Given the description of an element on the screen output the (x, y) to click on. 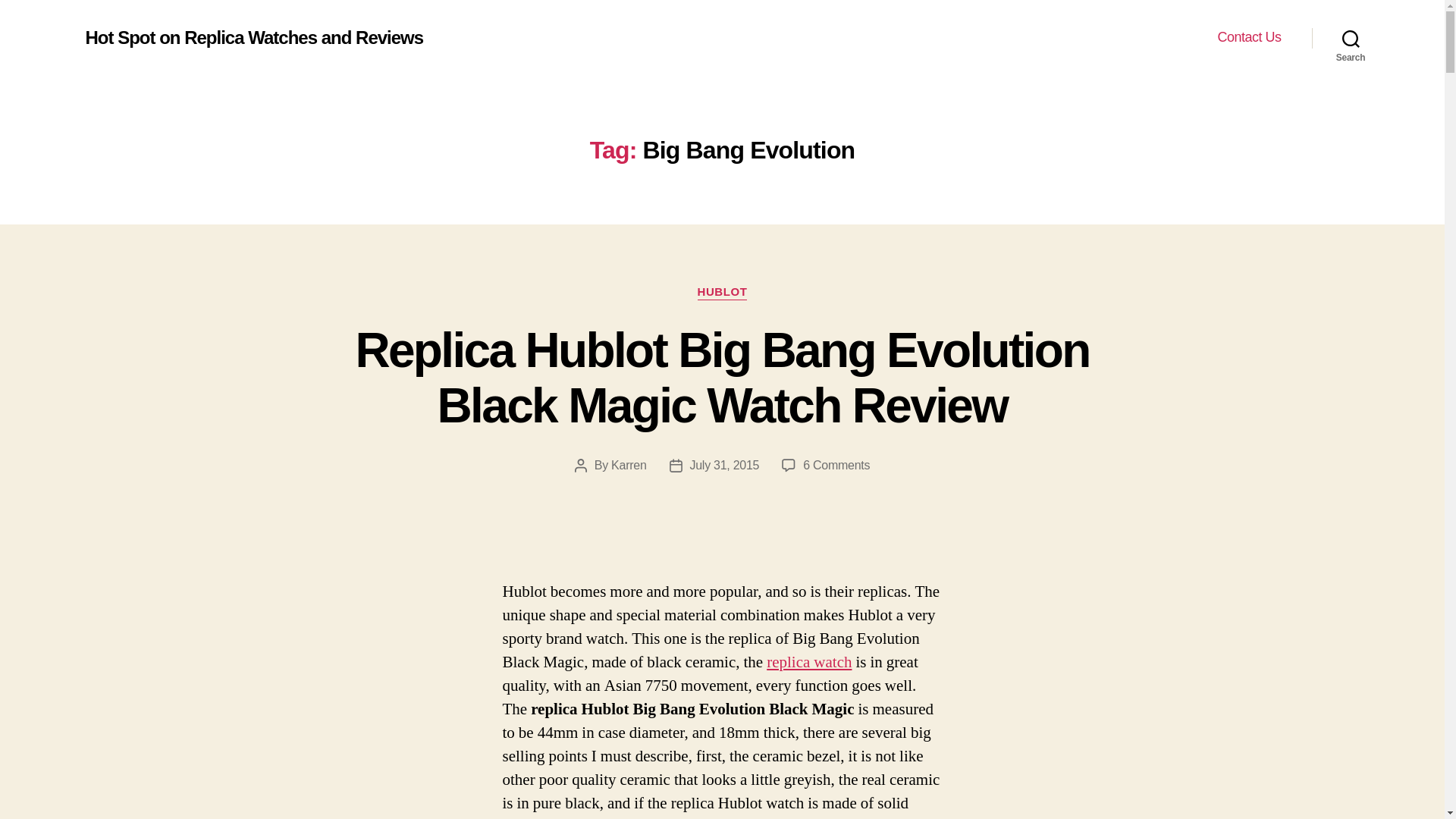
Contact Us (1249, 37)
replica watch (809, 661)
Replica Hublot Big Bang Evolution Black Magic Watch Review (722, 377)
Hot Spot on Replica Watches and Reviews (253, 37)
July 31, 2015 (725, 464)
Search (1350, 37)
Karren (628, 464)
HUBLOT (722, 292)
